Given the description of an element on the screen output the (x, y) to click on. 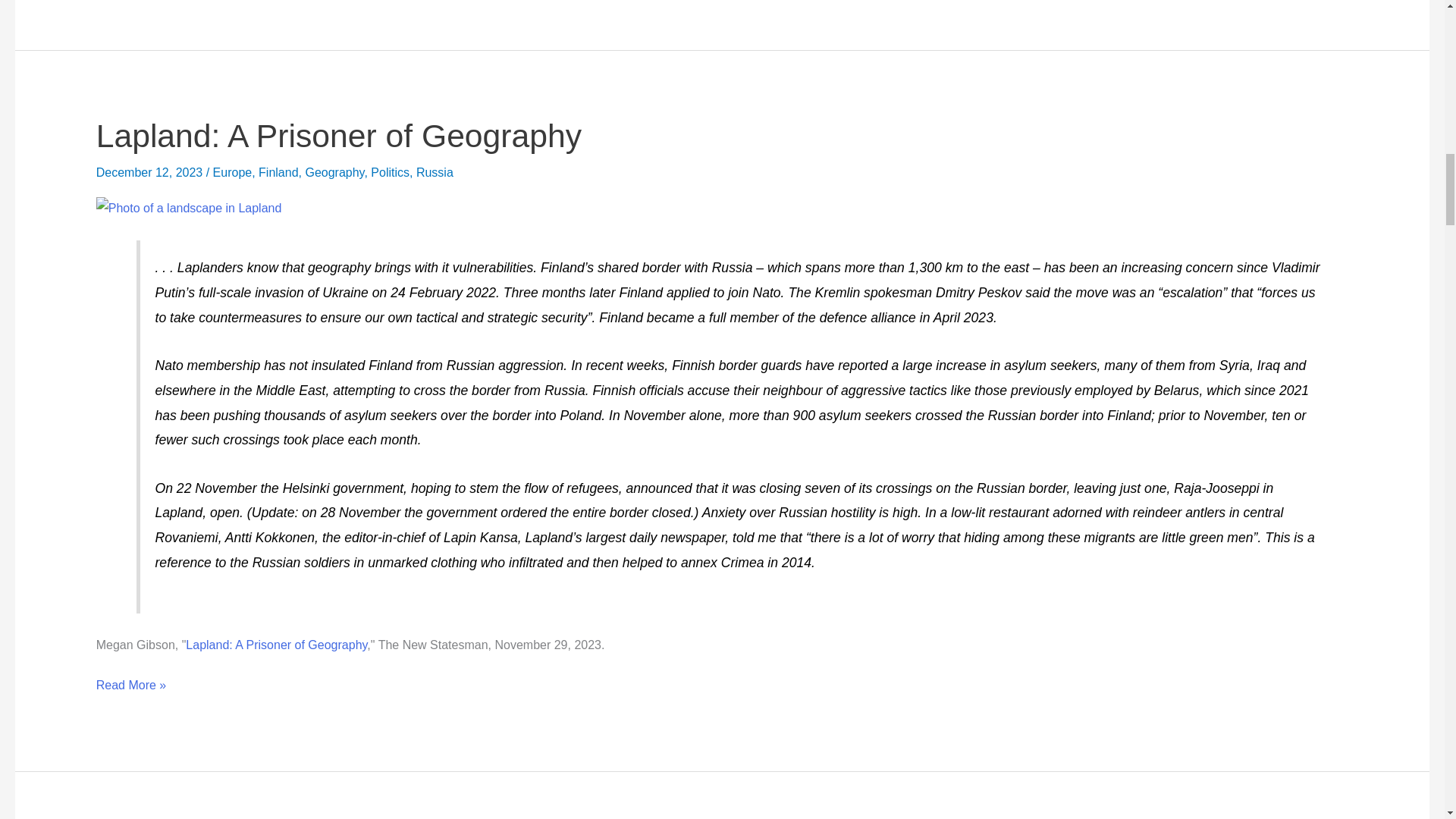
Lapland: A Prisoner of Geography (338, 135)
Politics (390, 172)
Geography (334, 172)
Russia (434, 172)
Lapland: A Prisoner of Geography (276, 644)
Finland (278, 172)
Europe (231, 172)
